Given the description of an element on the screen output the (x, y) to click on. 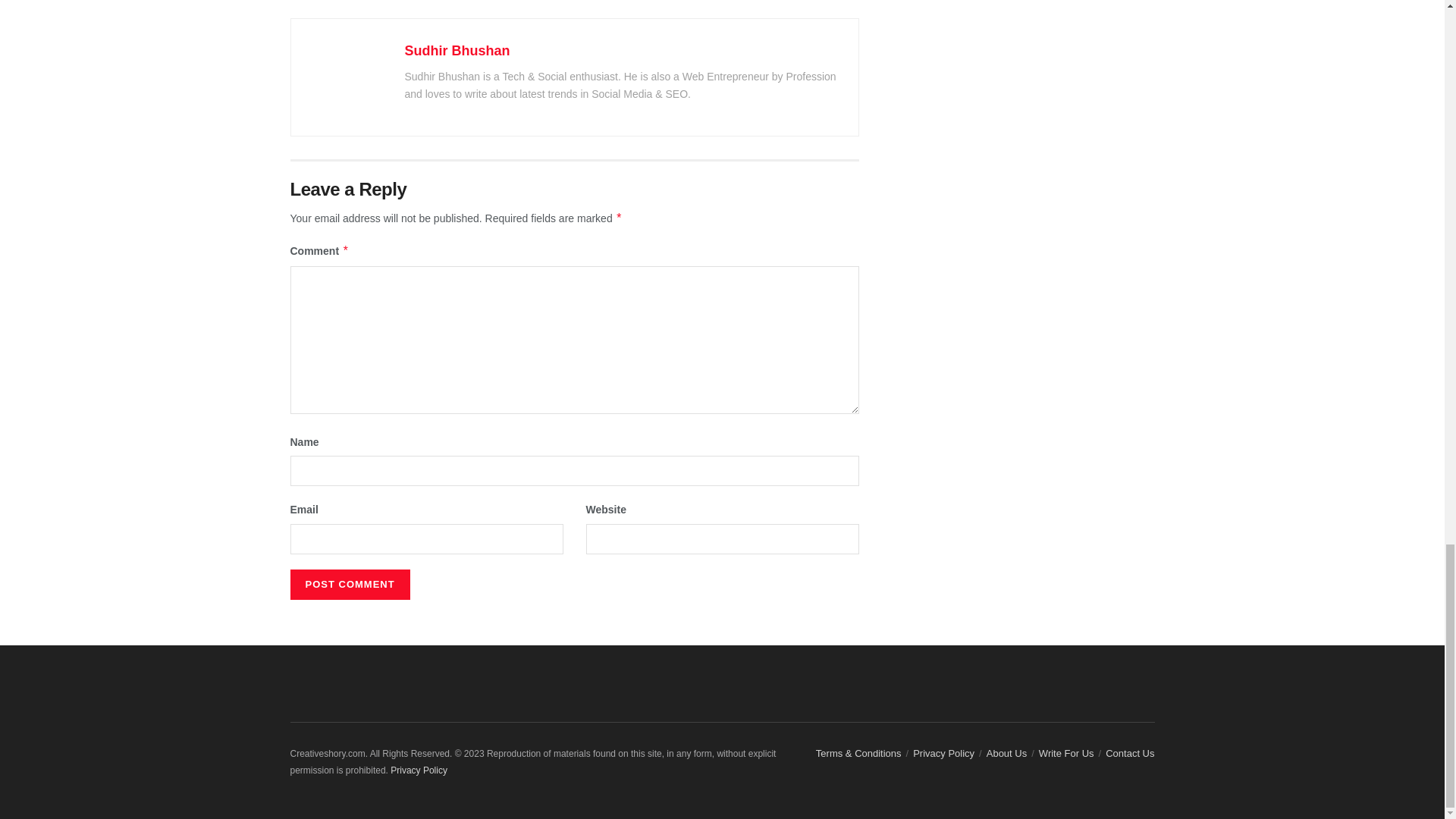
Post Comment (349, 584)
